Given the description of an element on the screen output the (x, y) to click on. 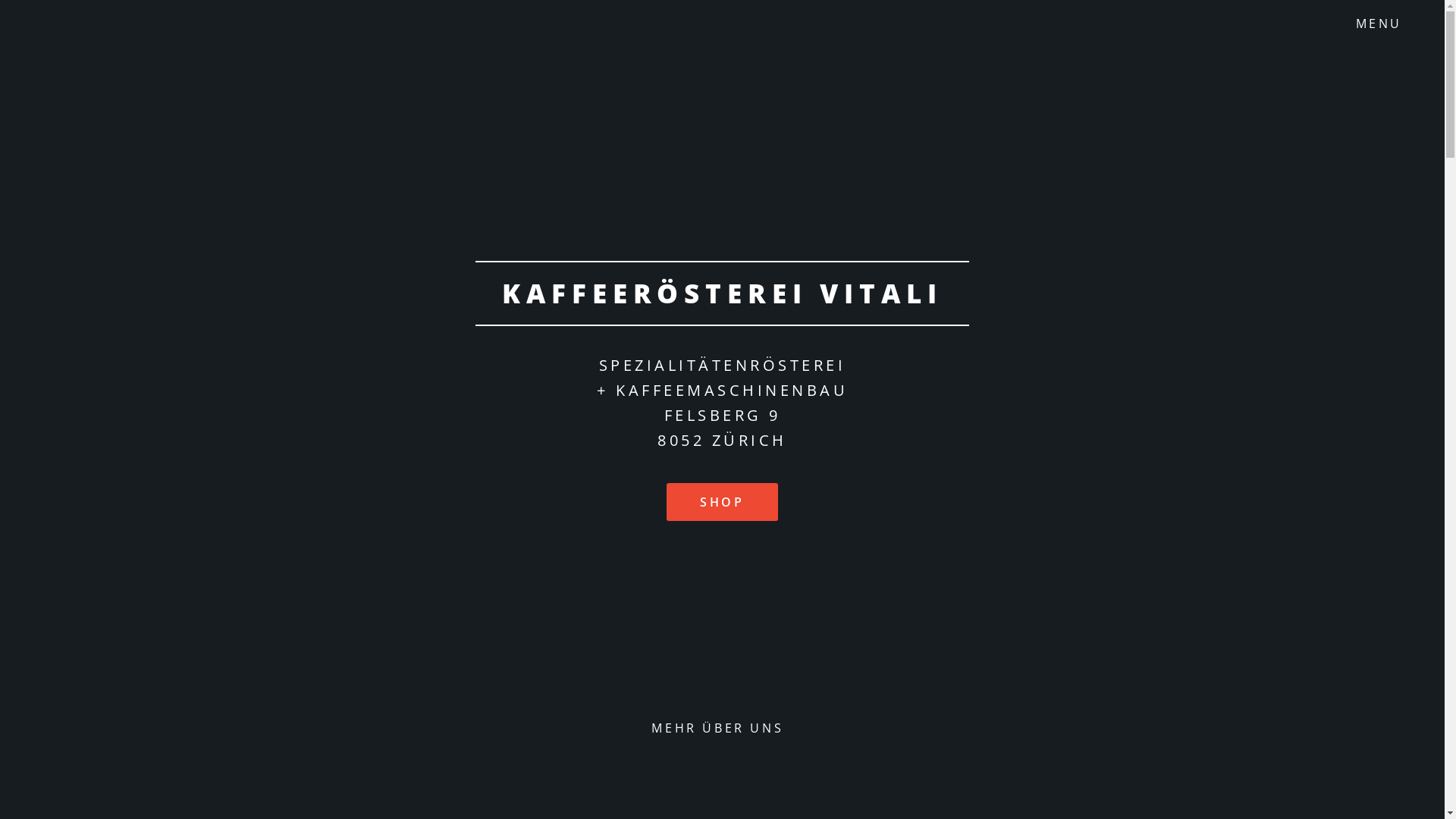
SHOP Element type: text (721, 501)
MENU Element type: text (1390, 23)
